Given the description of an element on the screen output the (x, y) to click on. 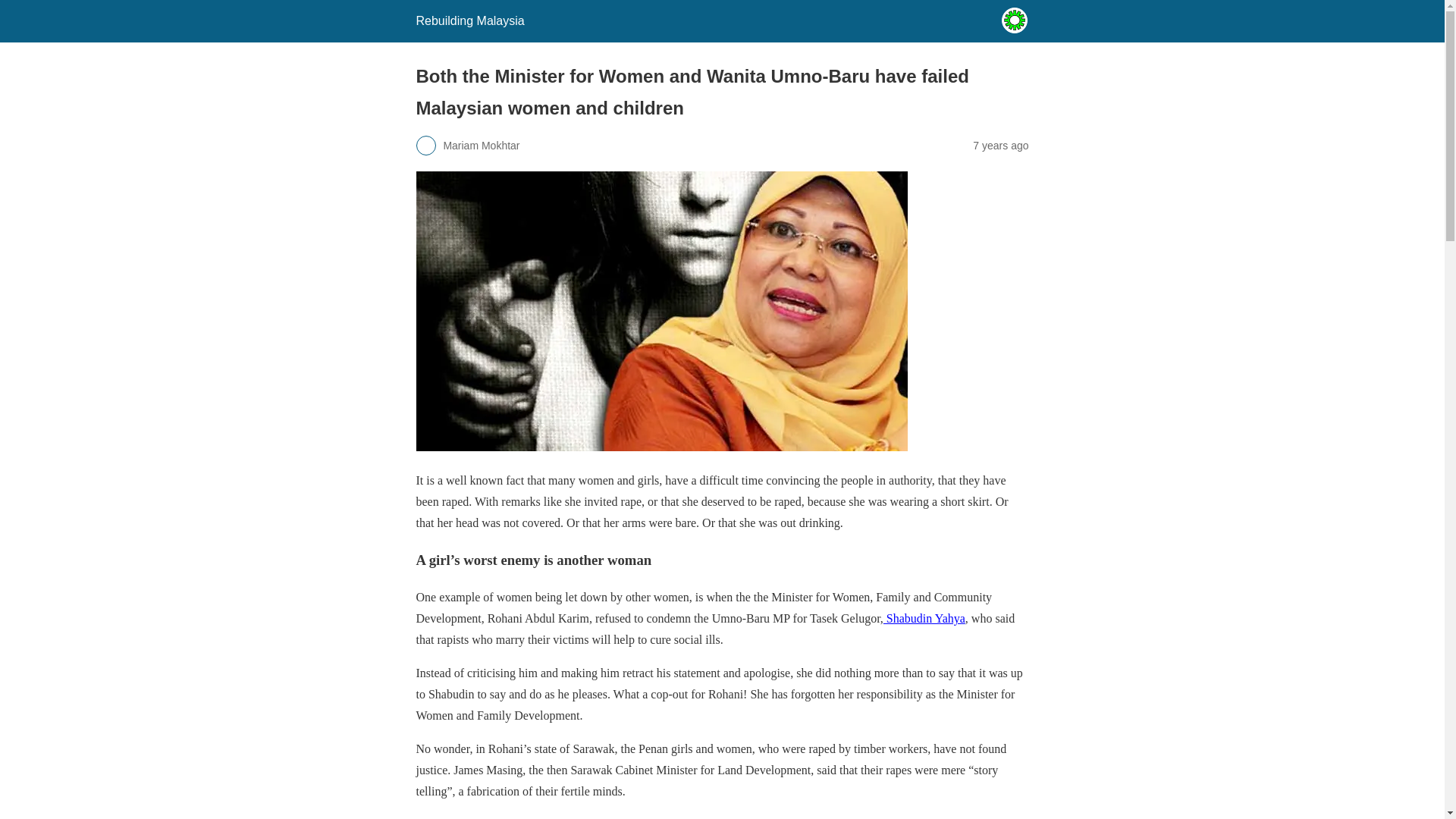
Rebuilding Malaysia (469, 20)
Shabudin Yahya (924, 617)
